Given the description of an element on the screen output the (x, y) to click on. 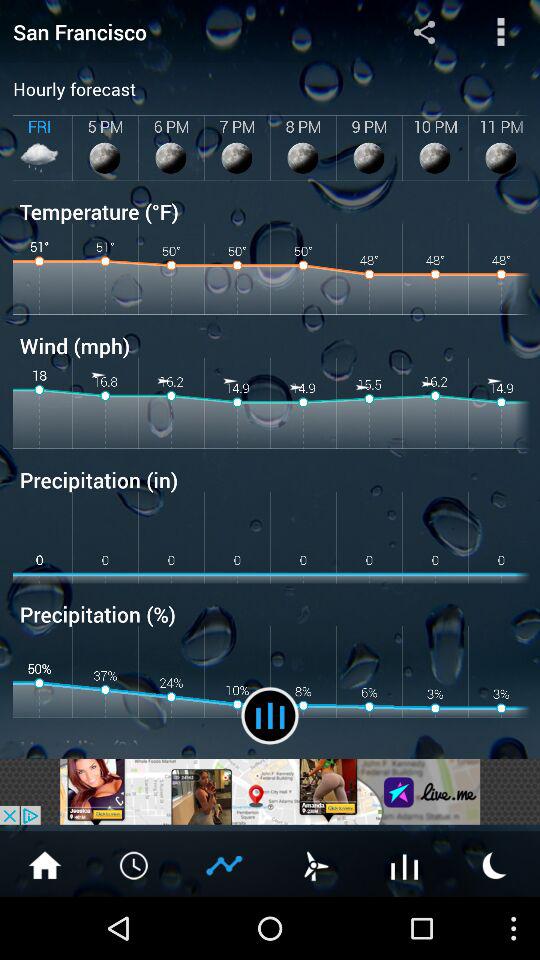
more options (500, 31)
